Given the description of an element on the screen output the (x, y) to click on. 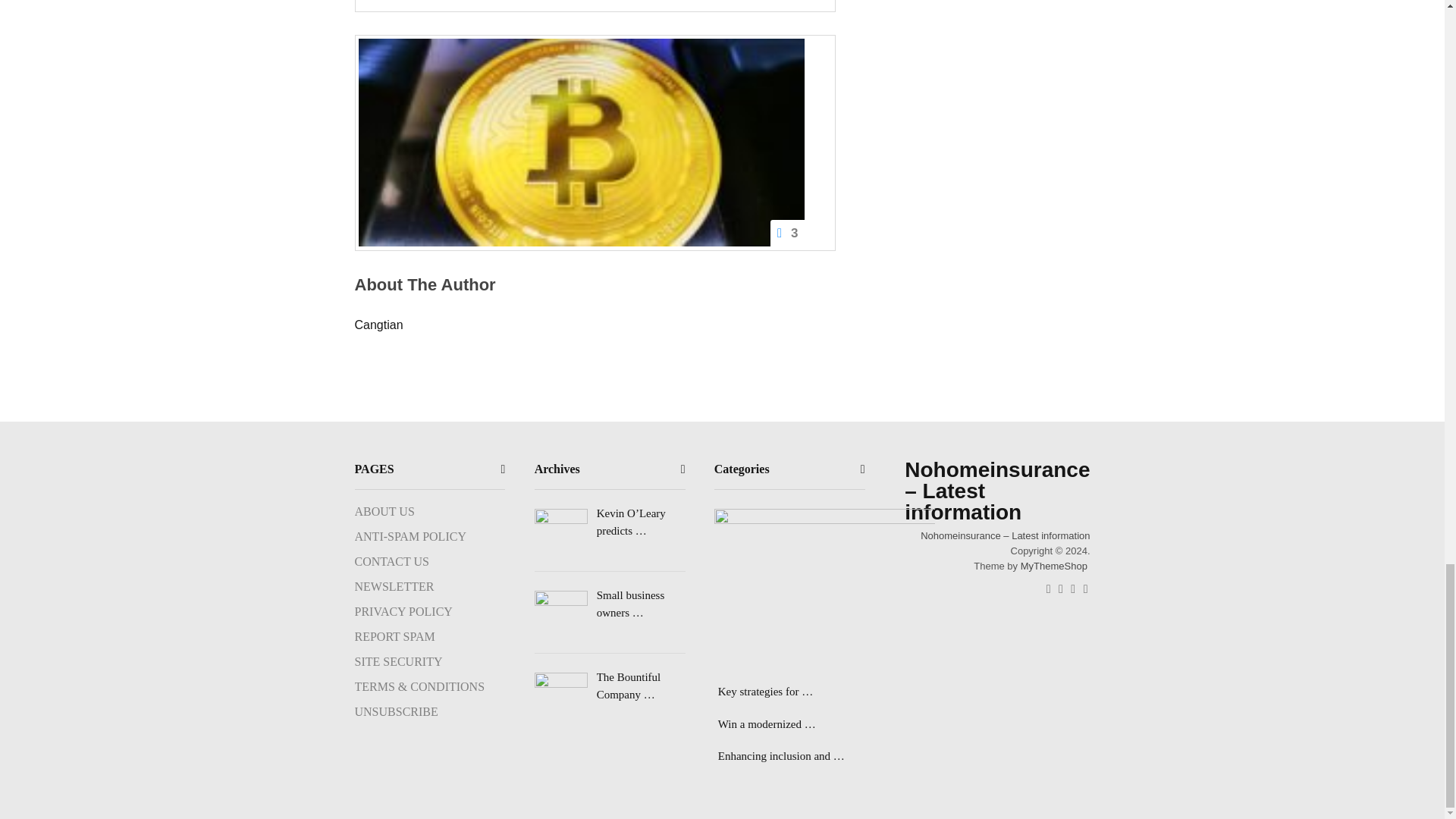
MyThemeShop (1053, 565)
ABOUT US (384, 511)
Small business owners say credit crunch post-SVB has arrived (609, 603)
3 (581, 142)
Insurance, Innovation, Automotive, Business, Lifestyle (1004, 535)
Cangtian (379, 324)
ANTI-SPAM POLICY (410, 535)
